Given the description of an element on the screen output the (x, y) to click on. 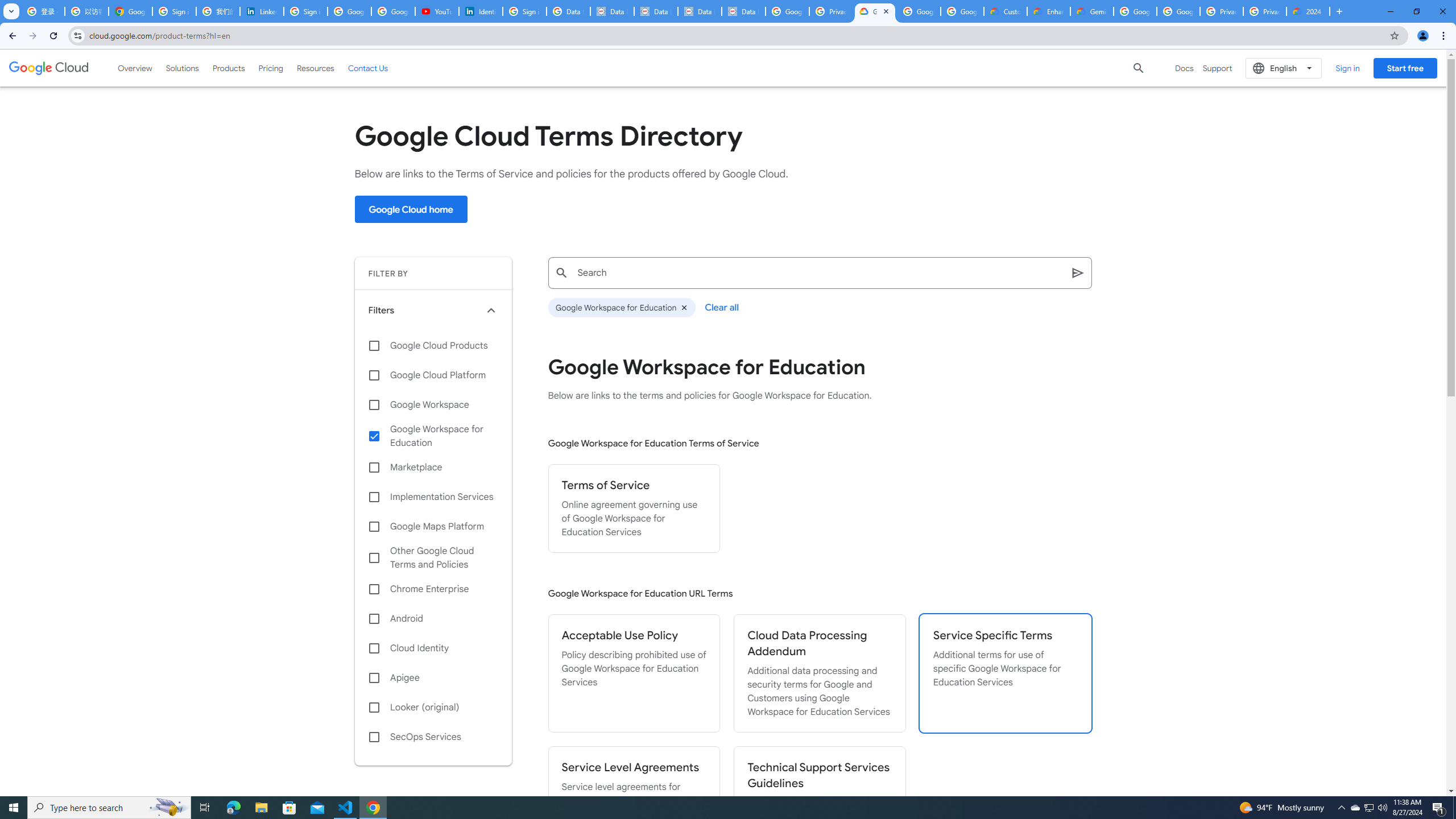
Pricing (270, 67)
Google Cloud Platform (432, 374)
Clear all (721, 307)
Filters keyboard_arrow_up (432, 309)
Looker (original) (432, 707)
